Given the description of an element on the screen output the (x, y) to click on. 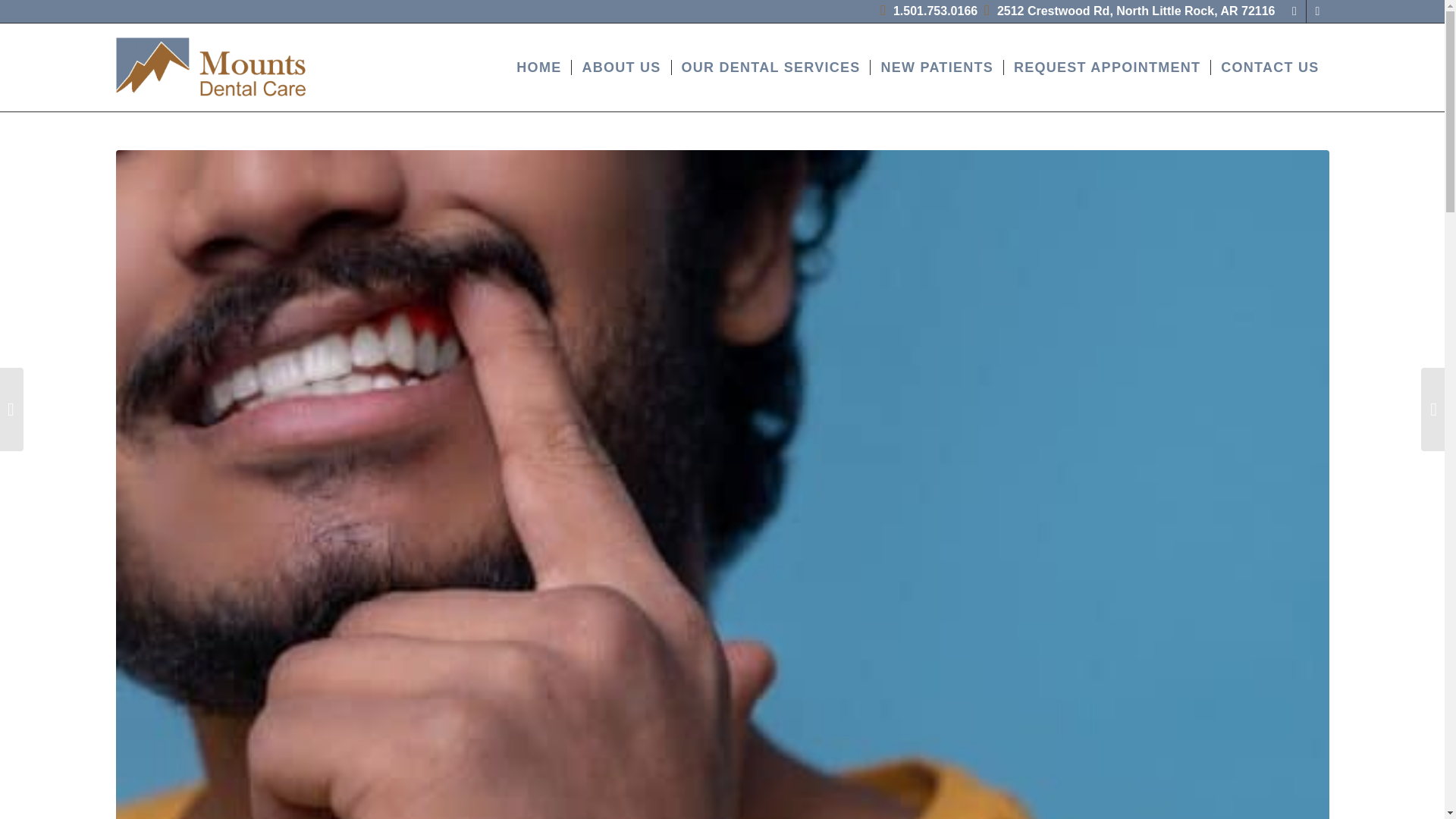
CONTACT US (1268, 67)
REQUEST APPOINTMENT (1106, 67)
ABOUT US (619, 67)
OUR DENTAL SERVICES (769, 67)
Facebook (1293, 11)
mountsdentalcare340x156 (211, 67)
NEW PATIENTS (936, 67)
